Given the description of an element on the screen output the (x, y) to click on. 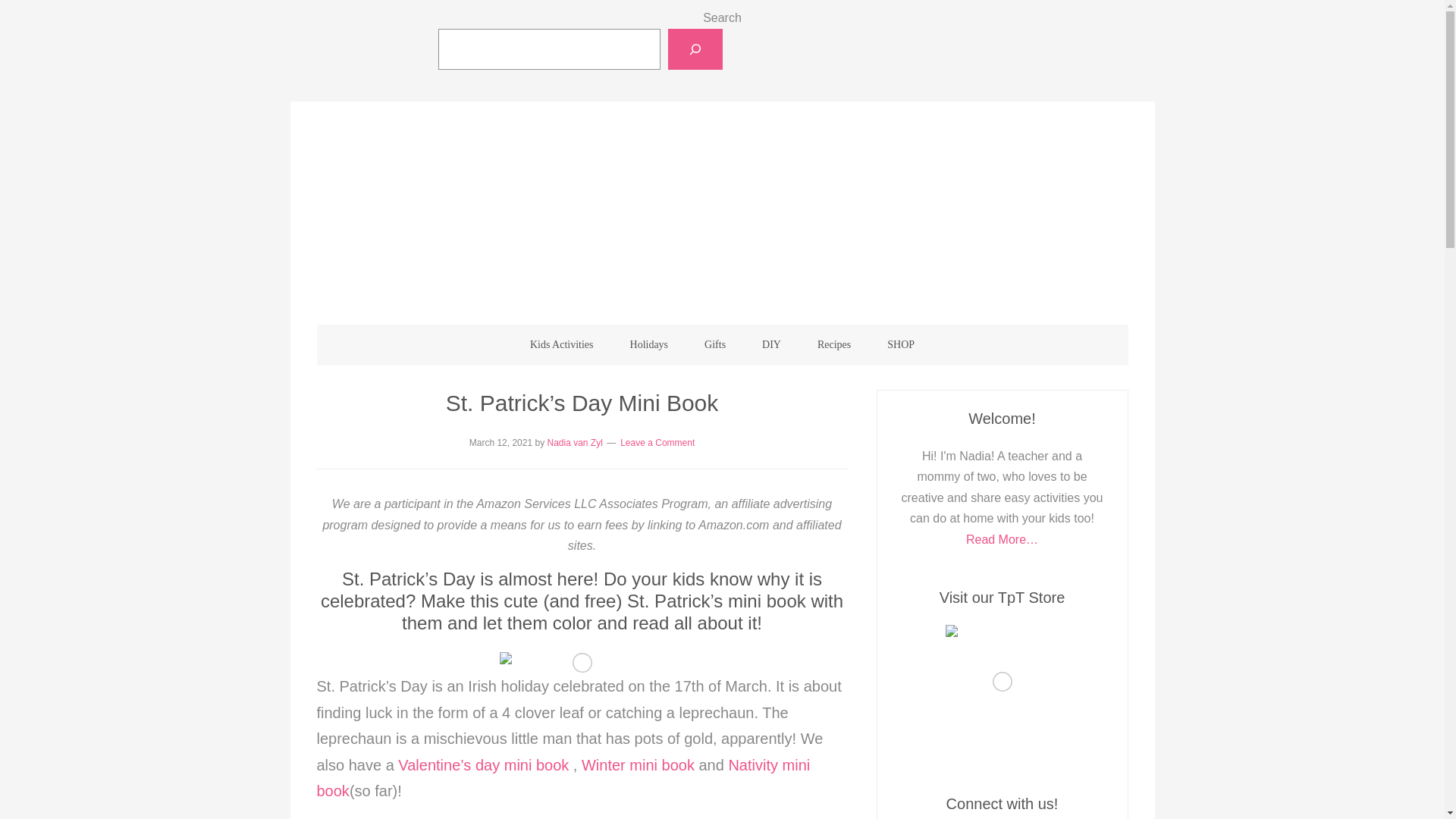
DIY (771, 344)
Leave a Comment (657, 442)
Nadia van Zyl (574, 442)
Nativity mini book (563, 778)
Holidays (649, 344)
Gifts (714, 344)
Winter mini book (637, 764)
SHOP (901, 344)
Kids Activities (561, 344)
